Given the description of an element on the screen output the (x, y) to click on. 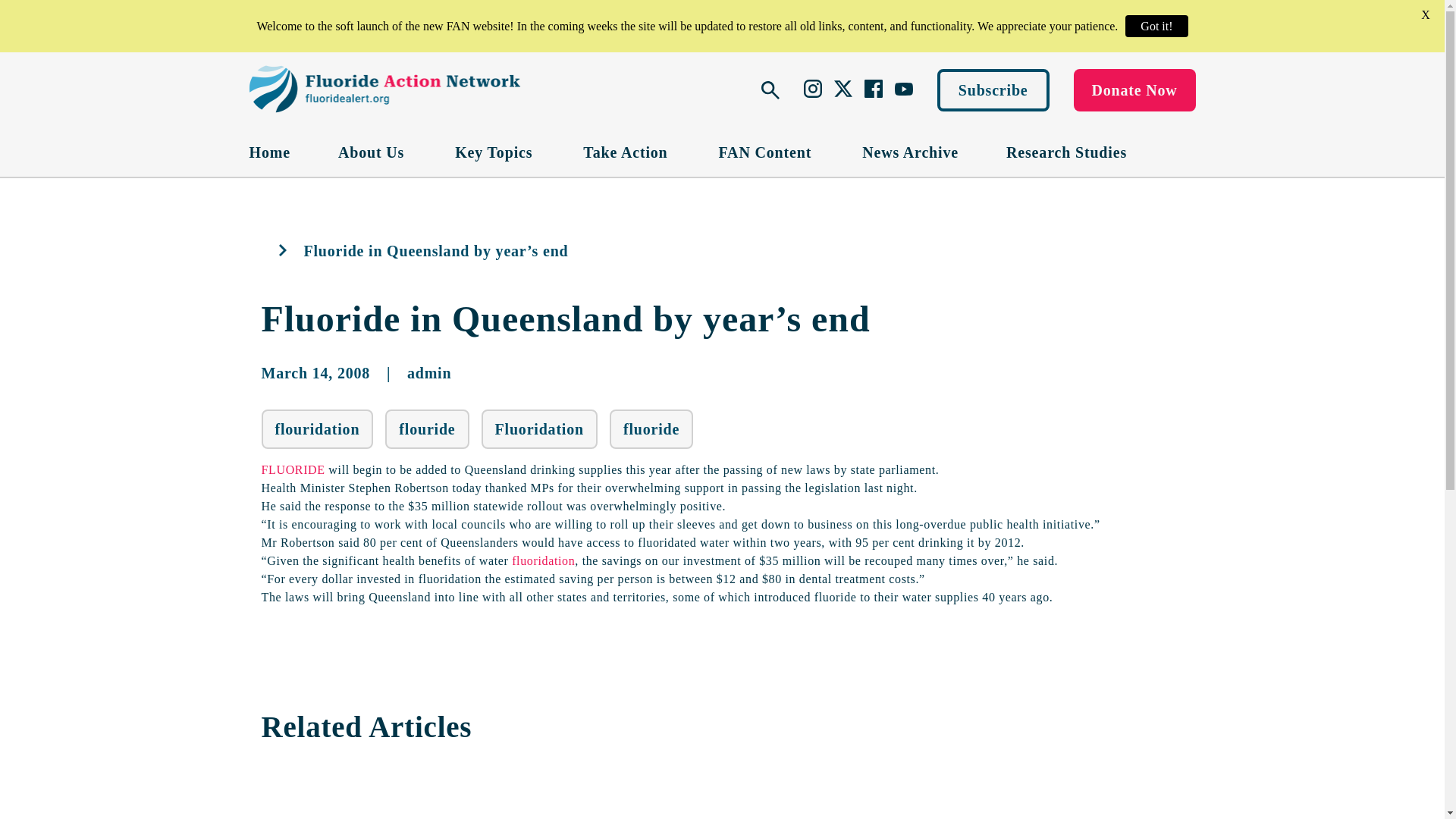
Posts by admin (429, 372)
News Archive (909, 152)
Donate Now (1134, 89)
Research Studies (1066, 152)
Subscribe (993, 89)
Donate Now (1134, 89)
Key Topics (494, 152)
Take Action (626, 152)
About Us (372, 152)
Home (268, 152)
FAN Content (767, 152)
Subscribe (992, 89)
